Given the description of an element on the screen output the (x, y) to click on. 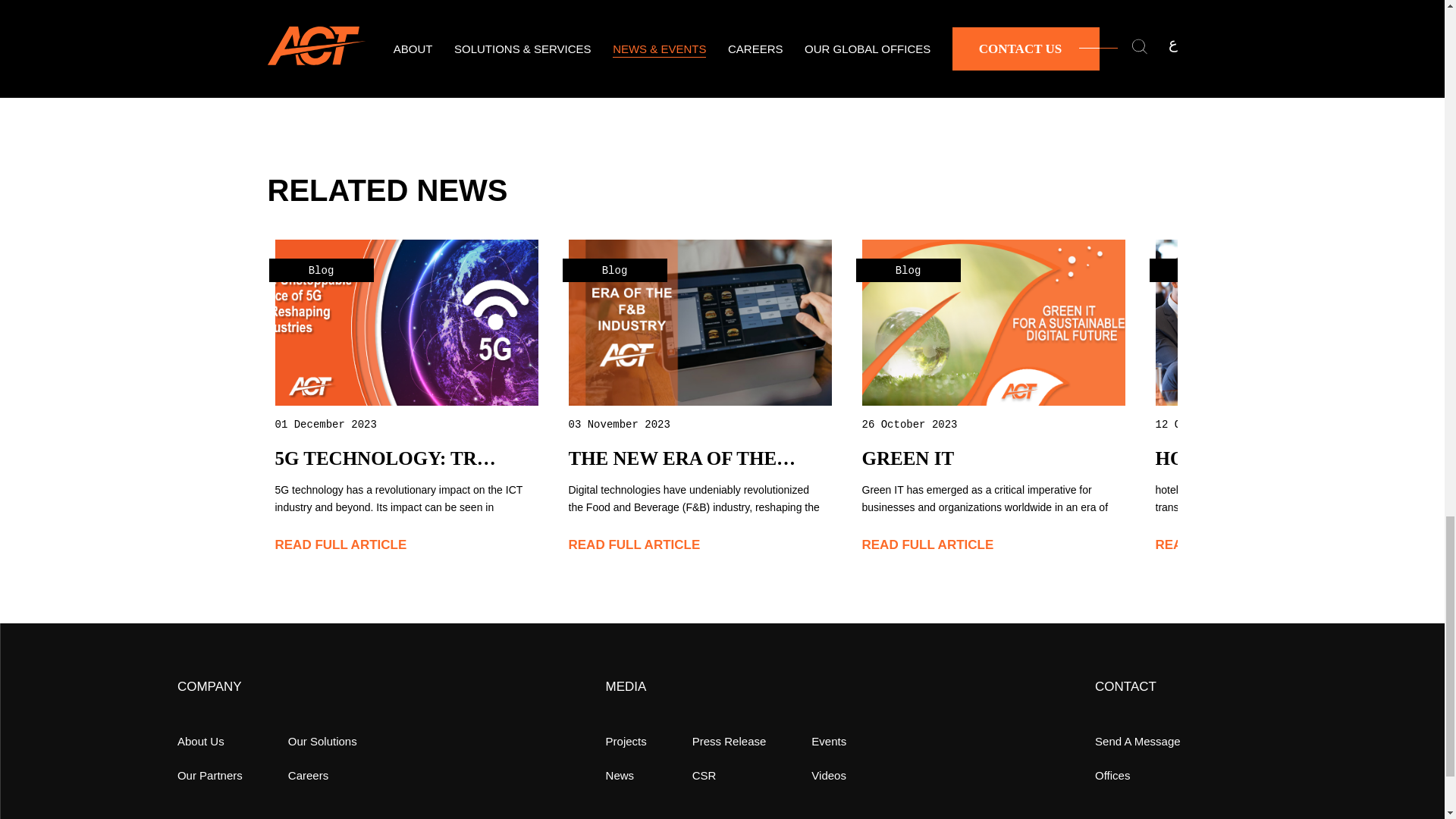
READ FULL ARTICLE (1221, 544)
Our Solutions (322, 740)
READ FULL ARTICLE (634, 544)
READ FULL ARTICLE (340, 544)
About Us (200, 740)
READ FULL ARTICLE (926, 544)
Careers (308, 775)
Our Partners (210, 775)
